Given the description of an element on the screen output the (x, y) to click on. 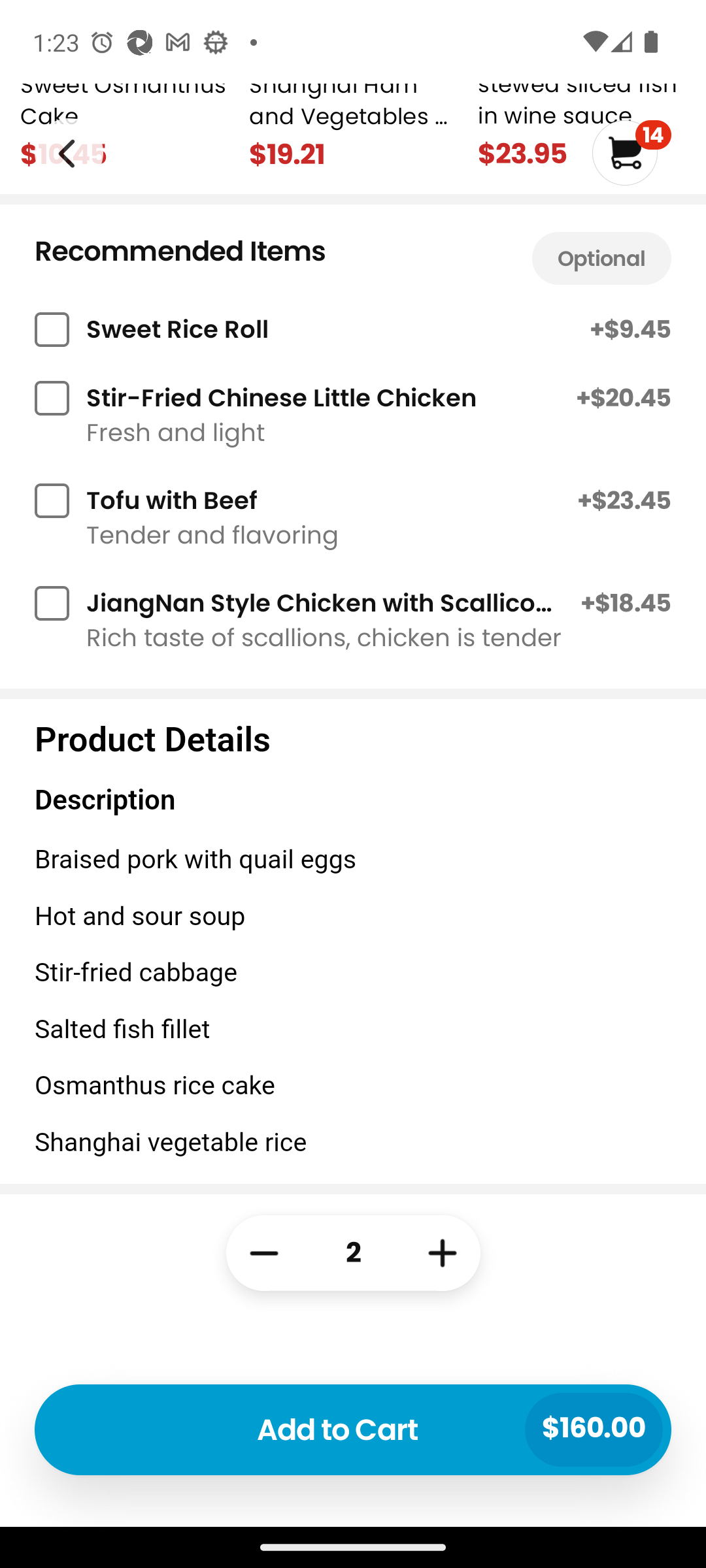
Image (68, 151)
14 (631, 152)
Recommended Items Optional (353, 253)
2 (353, 1355)
Add to Cart $160.00 (352, 1429)
